Given the description of an element on the screen output the (x, y) to click on. 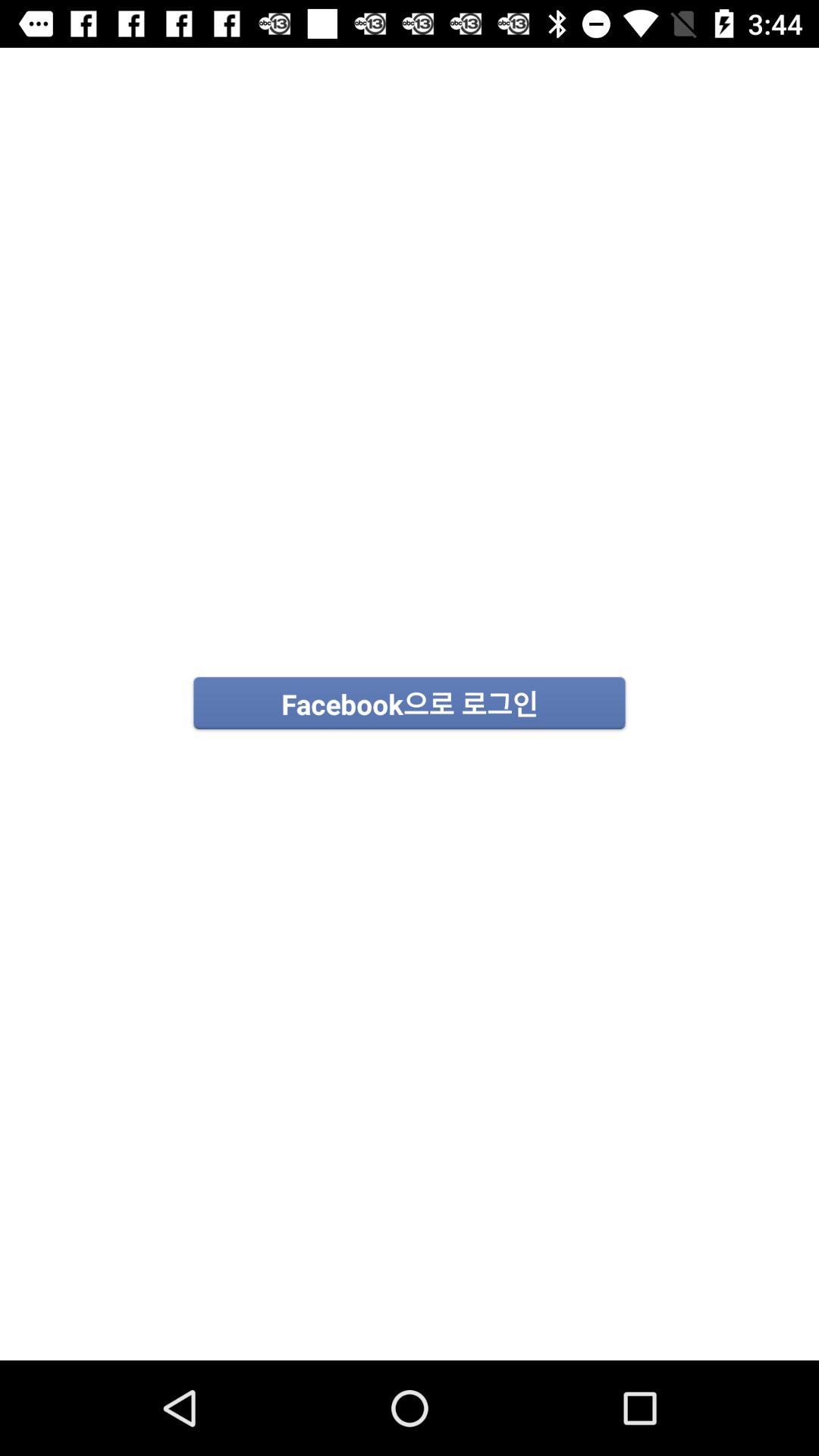
turn on icon at the center (409, 704)
